Given the description of an element on the screen output the (x, y) to click on. 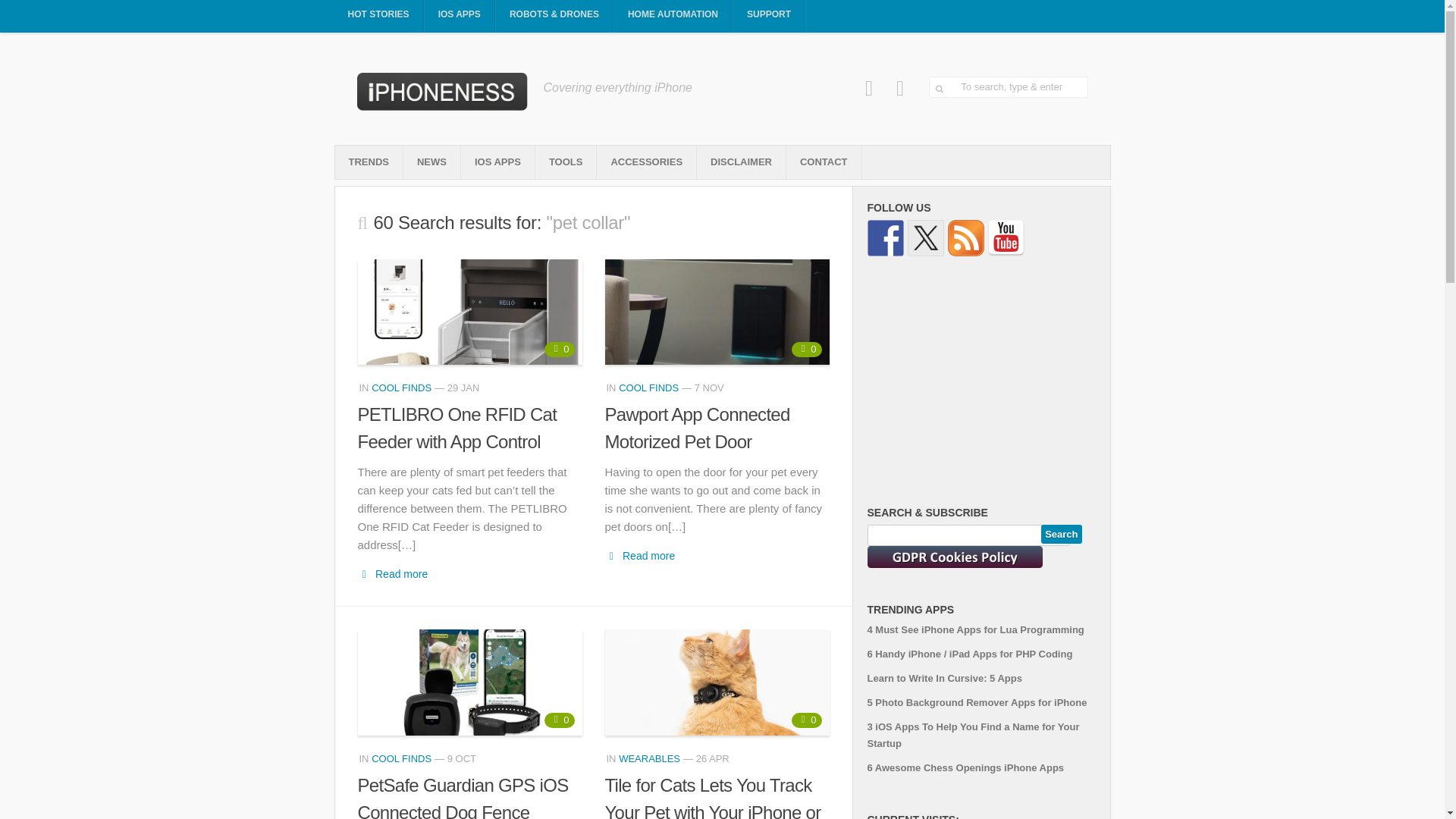
IOS APPS (497, 162)
Facebook (869, 87)
PETLIBRO One RFID Cat Feeder with App Control (470, 311)
IOS APPS (460, 16)
Search (1061, 533)
Pinterest (900, 87)
PetSafe Guardian GPS iOS Connected Dog Fence (470, 681)
TOOLS (565, 162)
PETLIBRO One RFID Cat Feeder with App Control (457, 428)
HOT STORIES (377, 16)
NEWS (431, 162)
TRENDS (368, 162)
Pawport App Connected Motorized Pet Door (717, 311)
PetSafe Guardian GPS iOS Connected Dog Fence (463, 796)
